Given the description of an element on the screen output the (x, y) to click on. 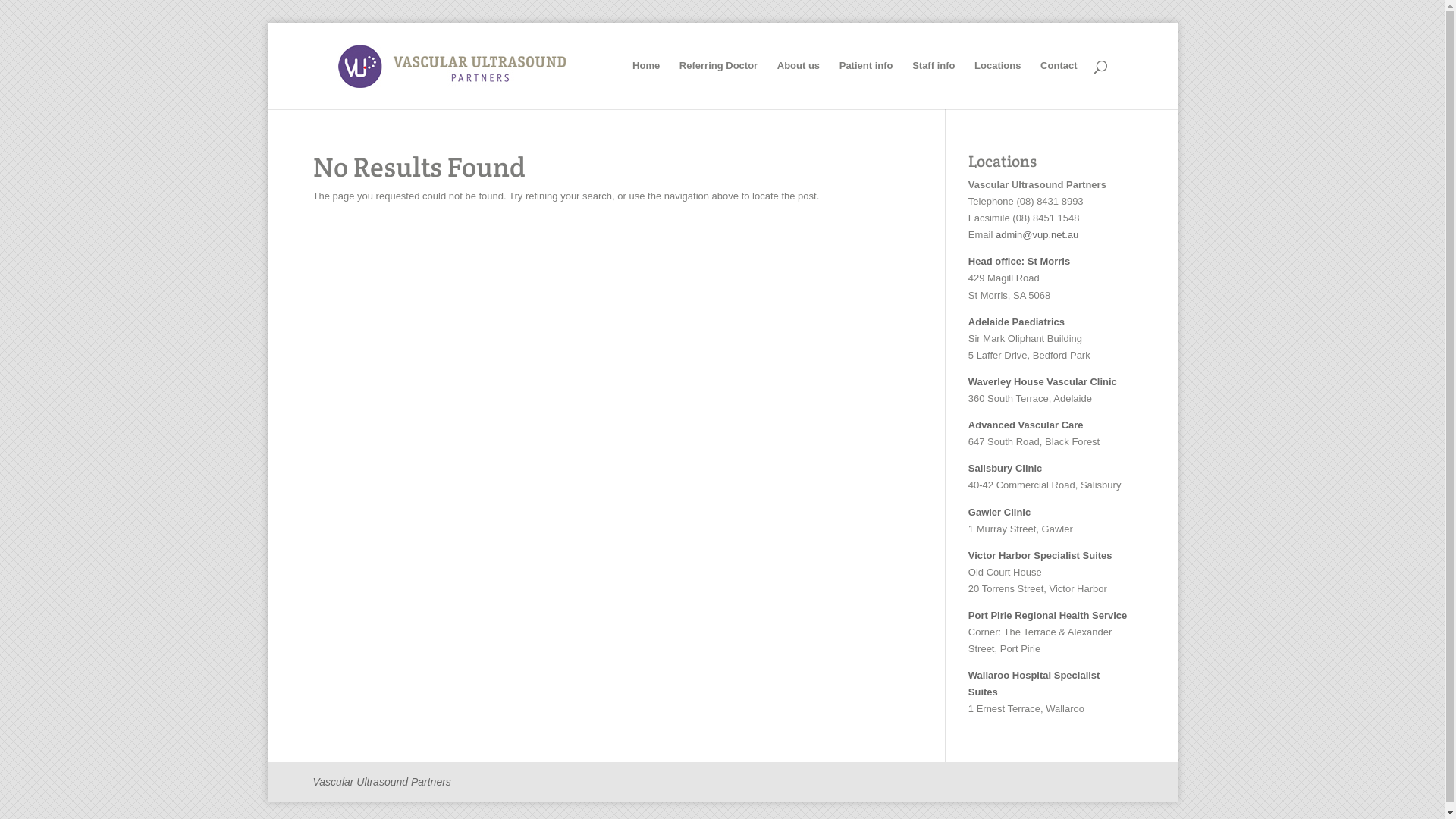
Gawler Clinic Element type: text (999, 511)
Wallaroo Hospital Specialist Suites Element type: text (1034, 683)
Head office: St Morris Element type: text (1019, 260)
Home Element type: text (645, 84)
About us Element type: text (798, 84)
Adelaide Paediatrics Element type: text (1016, 321)
Waverley House Vascular Clinic Element type: text (1042, 381)
Salisbury Clinic Element type: text (1005, 467)
Referring Doctor Element type: text (718, 84)
Staff info Element type: text (933, 84)
Locations Element type: text (997, 84)
Patient info Element type: text (866, 84)
Contact Element type: text (1058, 84)
Advanced Vascular Care Element type: text (1025, 424)
Victor Harbor Specialist Suites Element type: text (1040, 555)
admin@vup.net.au Element type: text (1036, 234)
Port Pirie Regional Health Service Element type: text (1047, 615)
